Given the description of an element on the screen output the (x, y) to click on. 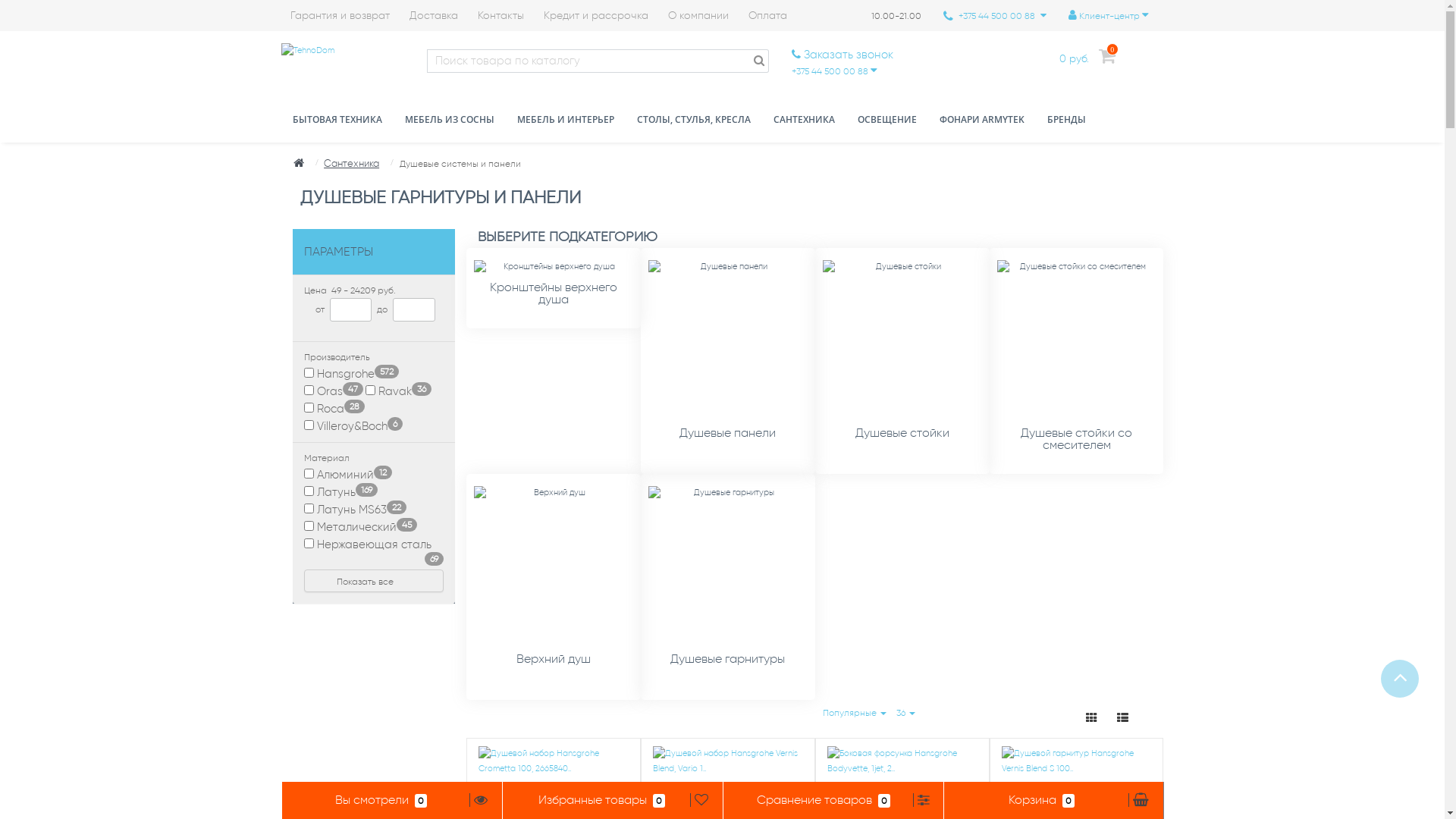
36 Element type: text (905, 712)
+375 44 500 00 88 Element type: text (994, 15)
+375 44 500 00 88 Element type: text (834, 70)
